Given the description of an element on the screen output the (x, y) to click on. 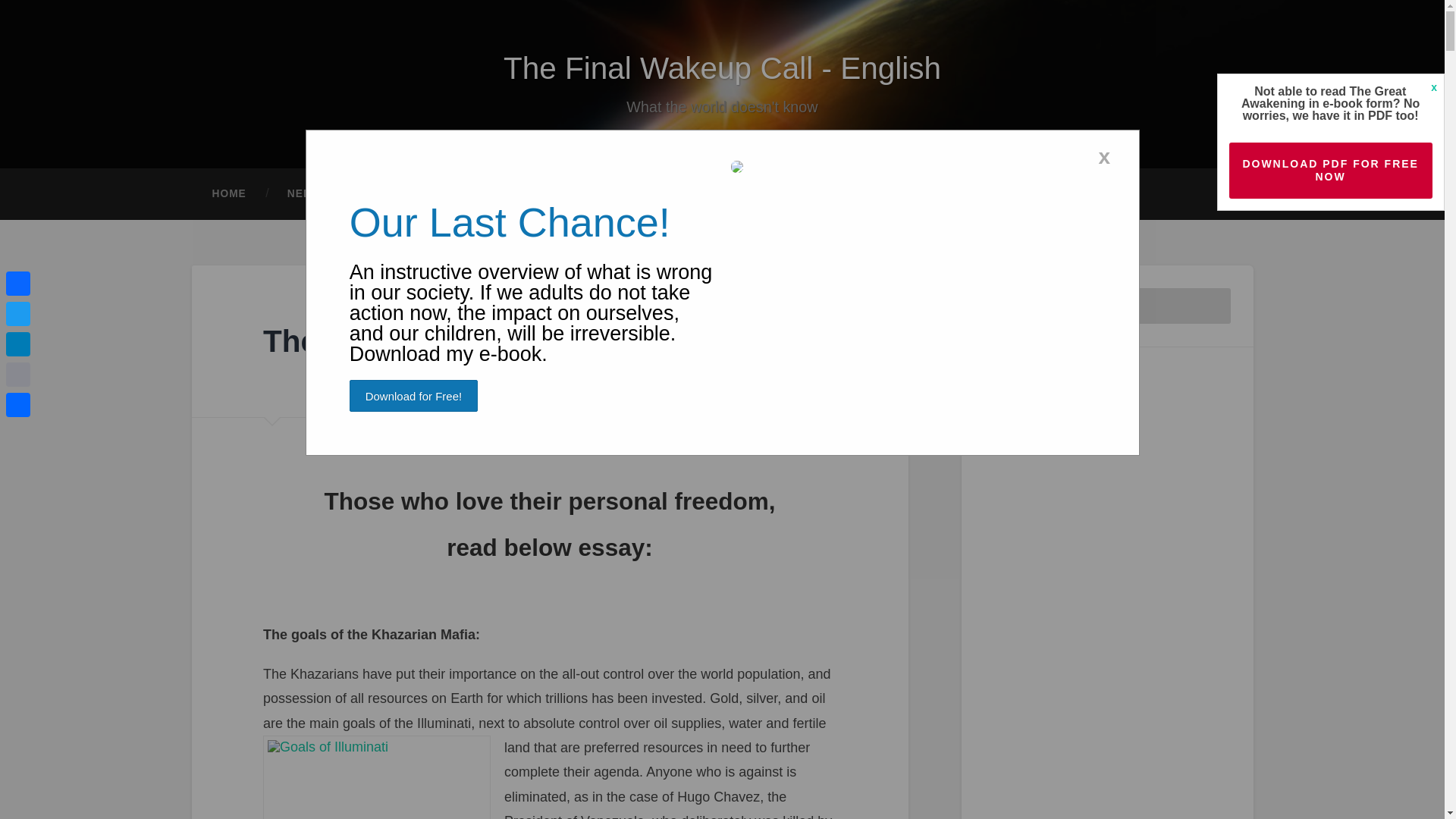
Search (1209, 306)
The site in Dutch (327, 194)
The Khazarians own the world (483, 340)
The Khazarians own the world (483, 340)
HOME (228, 194)
ITALIANO (729, 194)
The Final Wakeup Call - English (721, 67)
DEUTSCH (435, 194)
Search (1209, 306)
NEDERLANDS (327, 194)
